Given the description of an element on the screen output the (x, y) to click on. 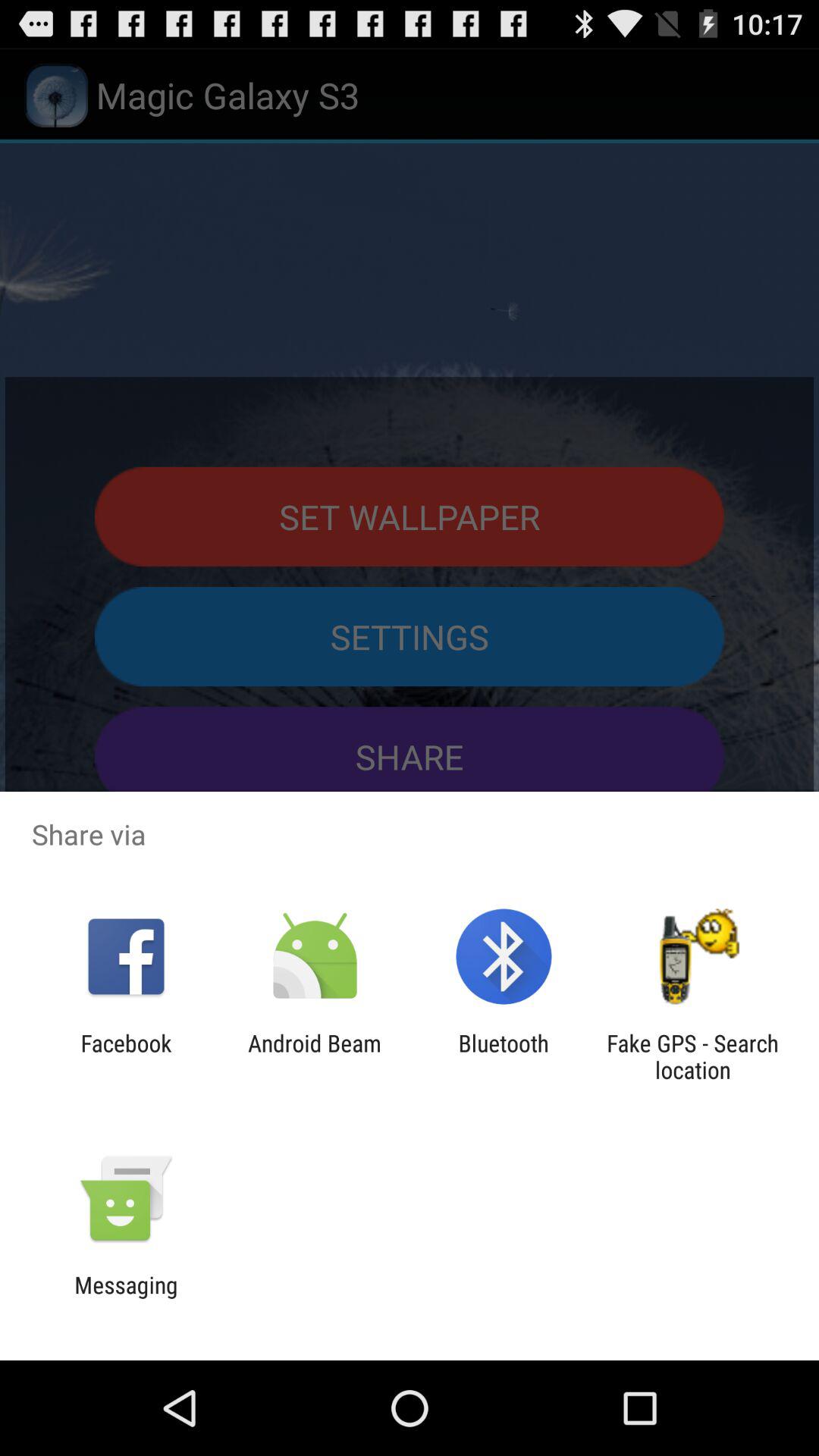
open app next to the bluetooth app (314, 1056)
